Given the description of an element on the screen output the (x, y) to click on. 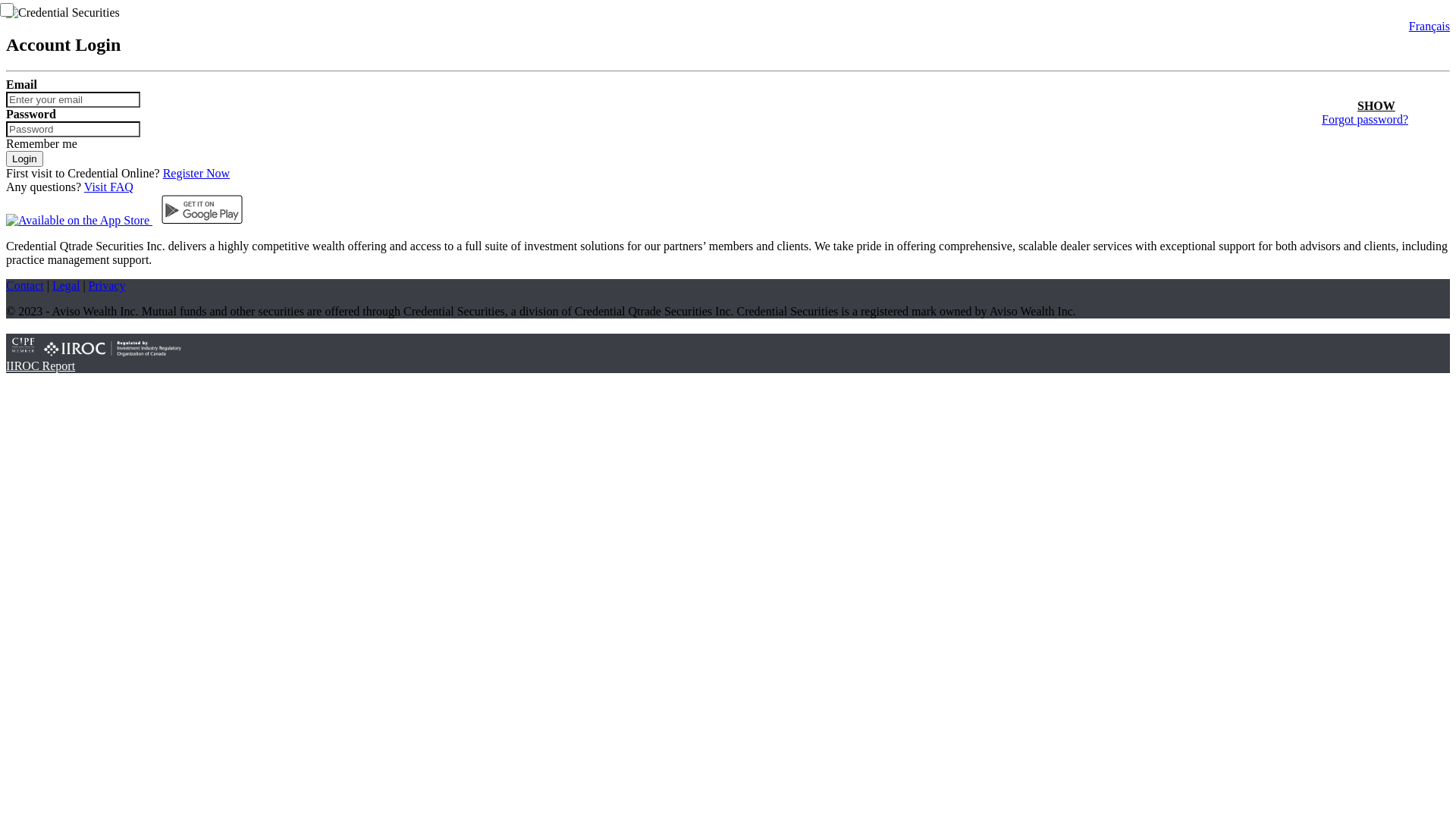
Legal Element type: text (65, 285)
Visit FAQ Element type: text (108, 186)
Register Now Element type: text (196, 172)
SHOW Element type: text (1376, 105)
IIROC Report Element type: text (40, 365)
Contact Element type: text (24, 285)
Login Element type: text (24, 158)
Privacy Element type: text (106, 285)
Forgot password? Element type: text (1364, 118)
